Given the description of an element on the screen output the (x, y) to click on. 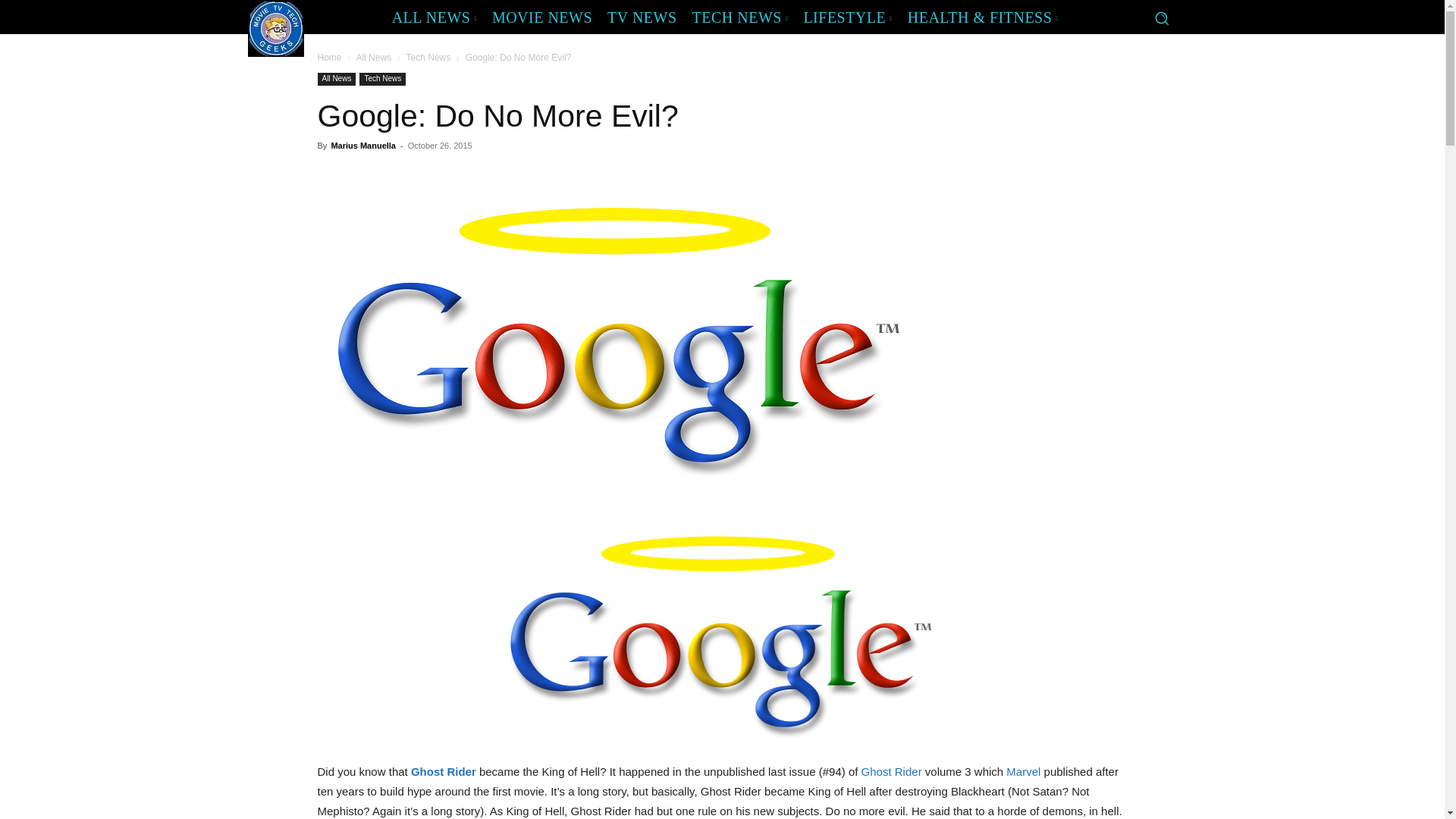
View all posts in All News (373, 57)
Movie TV Tech Geeks News Logo (274, 28)
TV NEWS (641, 17)
All News (373, 57)
Marius Manuella (363, 144)
View all posts in Tech News (428, 57)
TECH NEWS (740, 17)
Tech News (382, 78)
Ghost Rider (443, 771)
